Given the description of an element on the screen output the (x, y) to click on. 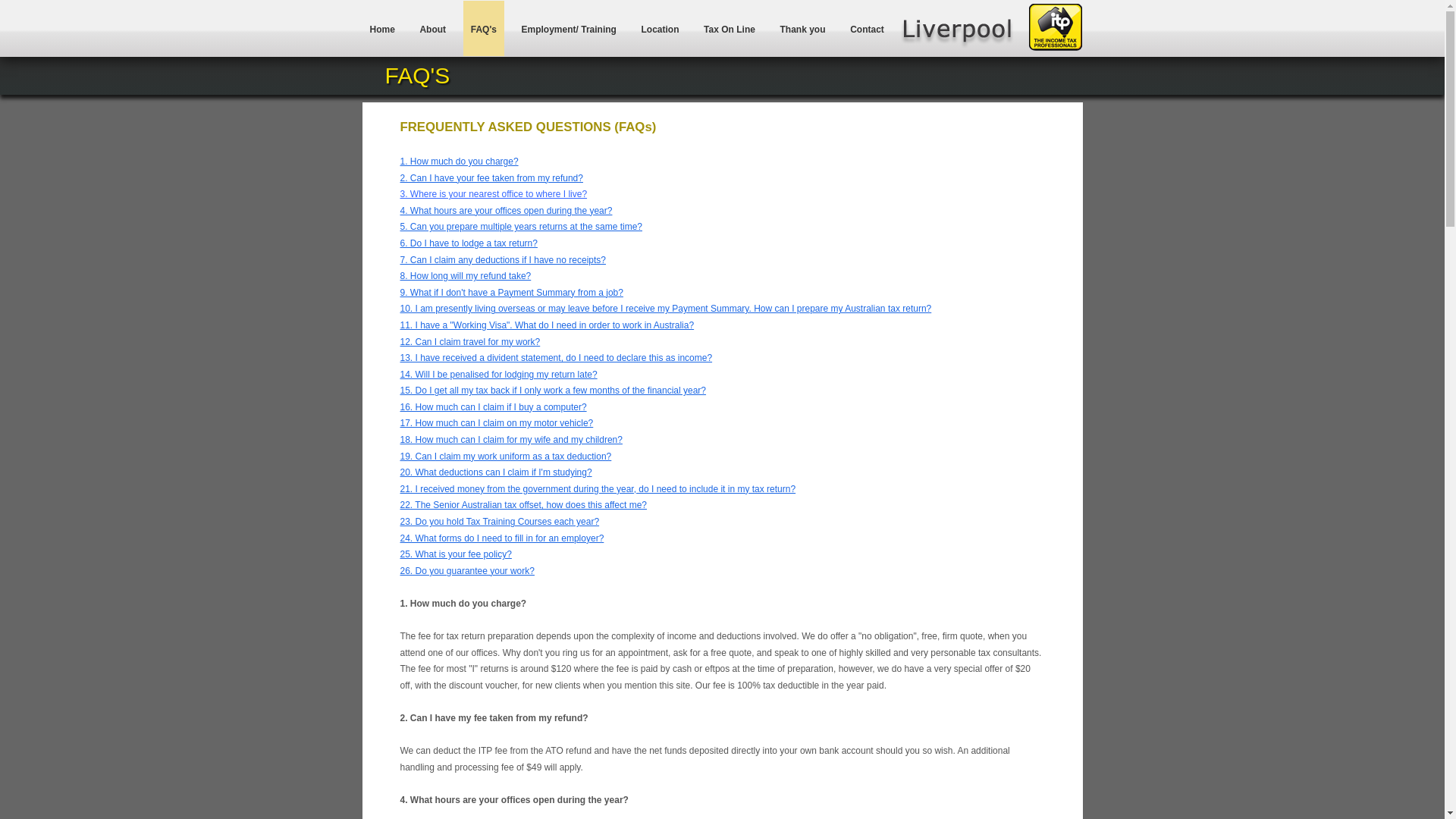
Contact Element type: text (866, 28)
24. What forms do I need to fill in for an employer? Element type: text (502, 538)
23. Do you hold Tax Training Courses each year? Element type: text (499, 521)
About Element type: text (432, 28)
6. Do I have to lodge a tax return? Element type: text (468, 243)
18. How much can I claim for my wife and my children? Element type: text (511, 439)
Thank you Element type: text (802, 28)
19. Can I claim my work uniform as a tax deduction? Element type: text (505, 456)
5. Can you prepare multiple years returns at the same time? Element type: text (521, 226)
16. How much can I claim if I buy a computer? Element type: text (493, 406)
9. What if I don't have a Payment Summary from a job? Element type: text (511, 292)
26. Do you guarantee your work? Element type: text (467, 570)
17. How much can I claim on my motor vehicle? Element type: text (496, 422)
Location Element type: text (660, 28)
2. Can I have your fee taken from my refund? Element type: text (491, 177)
Home Element type: text (382, 28)
12. Can I claim travel for my work? Element type: text (470, 341)
FAQ's Element type: text (483, 28)
4. What hours are your offices open during the year? Element type: text (506, 210)
25. What is your fee policy? Element type: text (455, 554)
1. How much do you charge? Element type: text (459, 161)
8. How long will my refund take? Element type: text (465, 275)
14. Will I be penalised for lodging my return late? Element type: text (498, 374)
Tax On Line Element type: text (729, 28)
Employment/ Training Element type: text (569, 28)
7. Can I claim any deductions if I have no receipts? Element type: text (502, 259)
20. What deductions can I claim if I'm studying? Element type: text (496, 472)
